Given the description of an element on the screen output the (x, y) to click on. 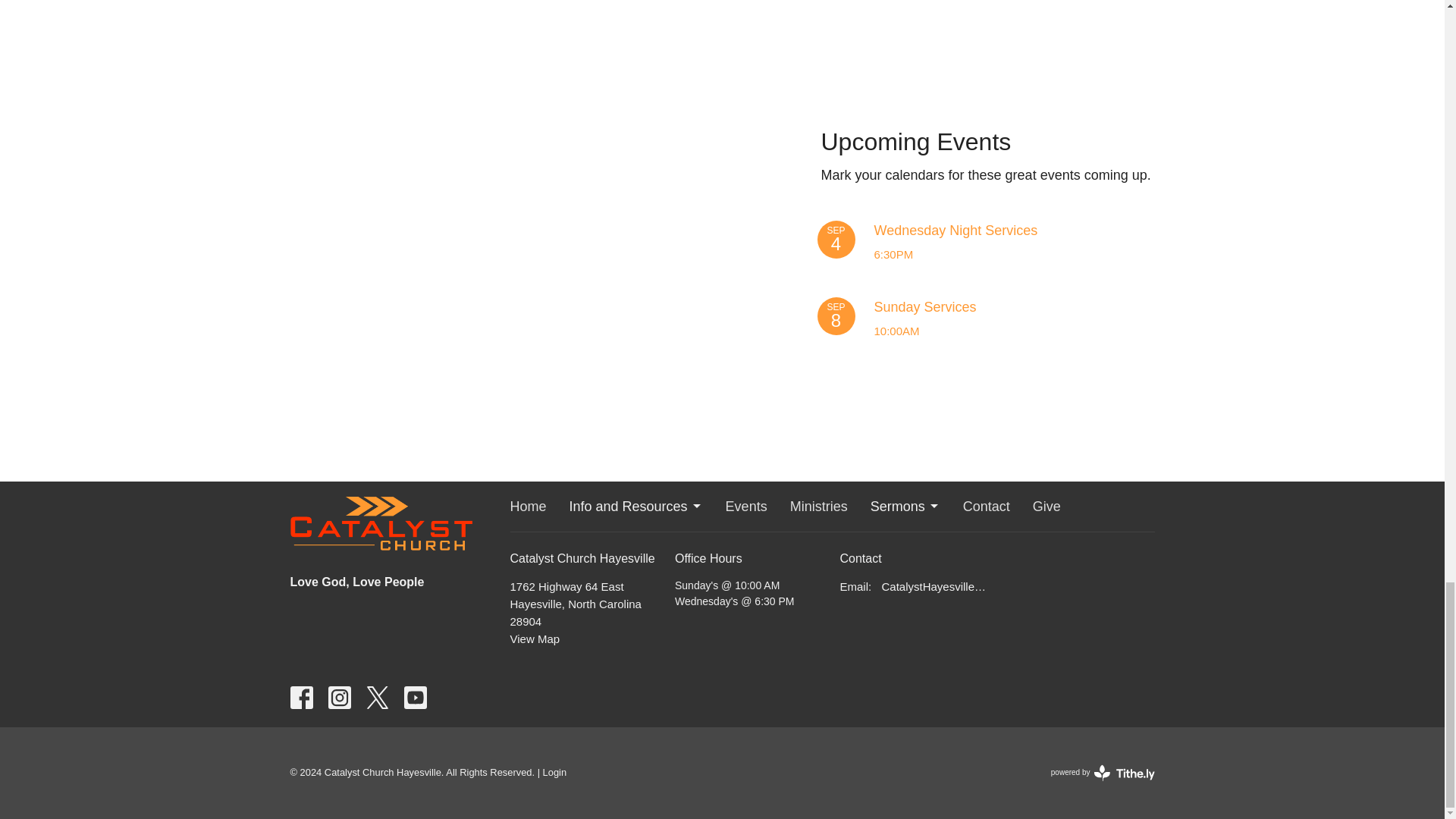
Ministries (818, 506)
translation missing: en.ui.email (854, 585)
Home (527, 506)
Events (746, 506)
Sermons (905, 506)
Info and Resources (1083, 316)
